Given the description of an element on the screen output the (x, y) to click on. 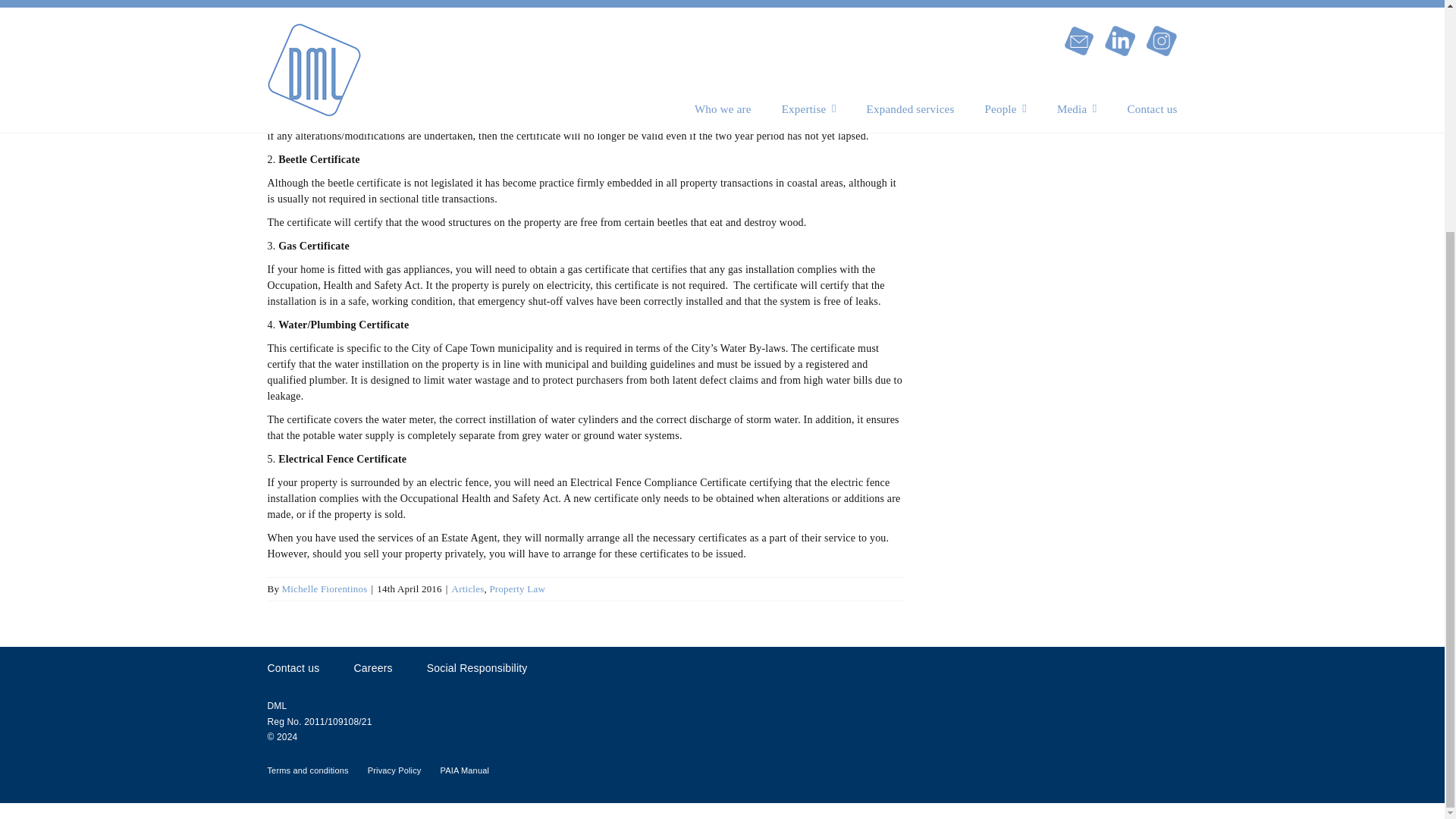
Careers (372, 668)
Privacy Policy (395, 770)
Contact us (292, 668)
Social Responsibility (476, 668)
Terms and conditions (306, 770)
Posts by Michelle Fiorentinos (325, 588)
Property Law (516, 588)
Michelle Fiorentinos (325, 588)
Articles (467, 588)
PAIA Manual (464, 770)
